Given the description of an element on the screen output the (x, y) to click on. 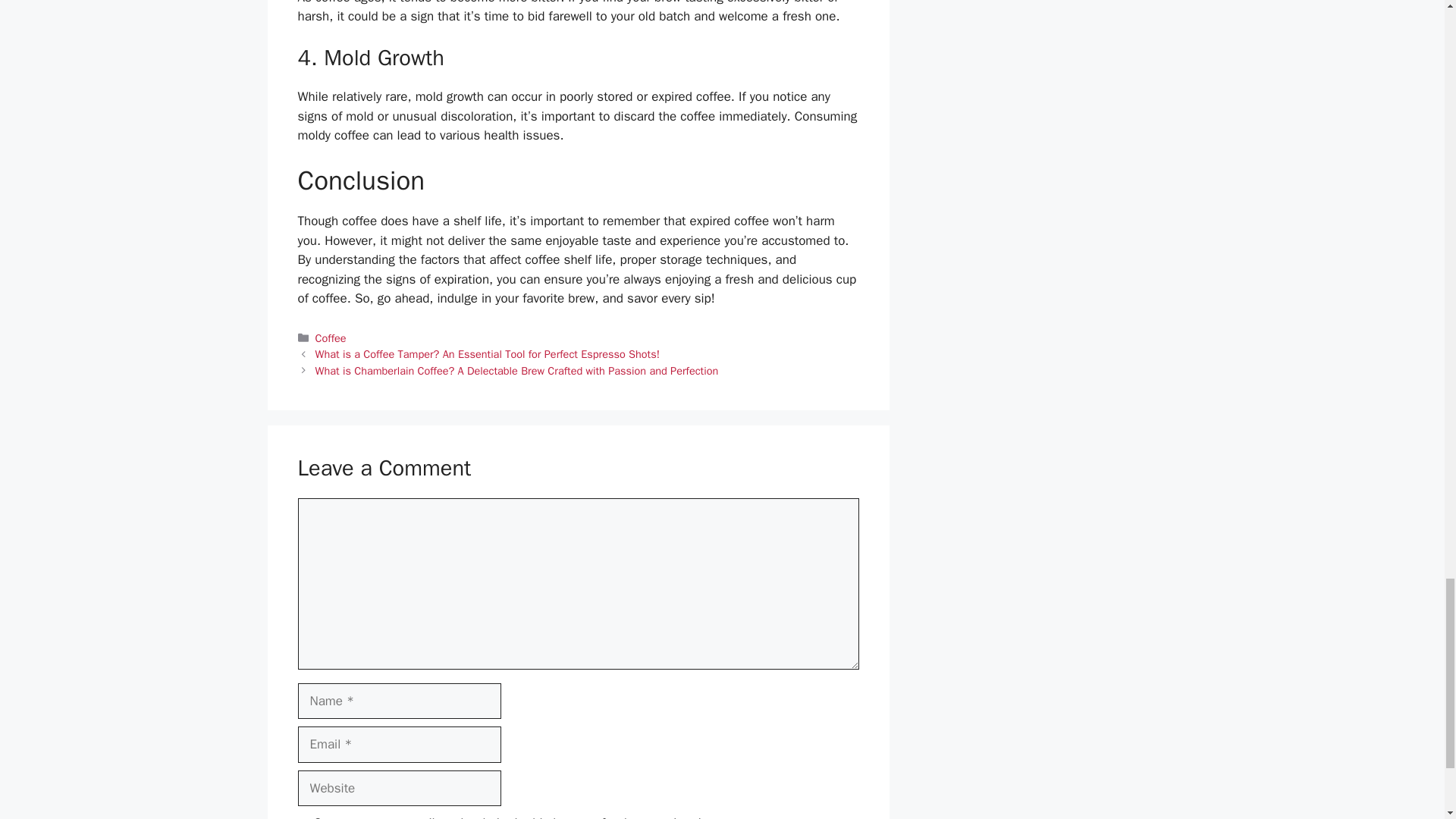
Coffee (330, 337)
